Given the description of an element on the screen output the (x, y) to click on. 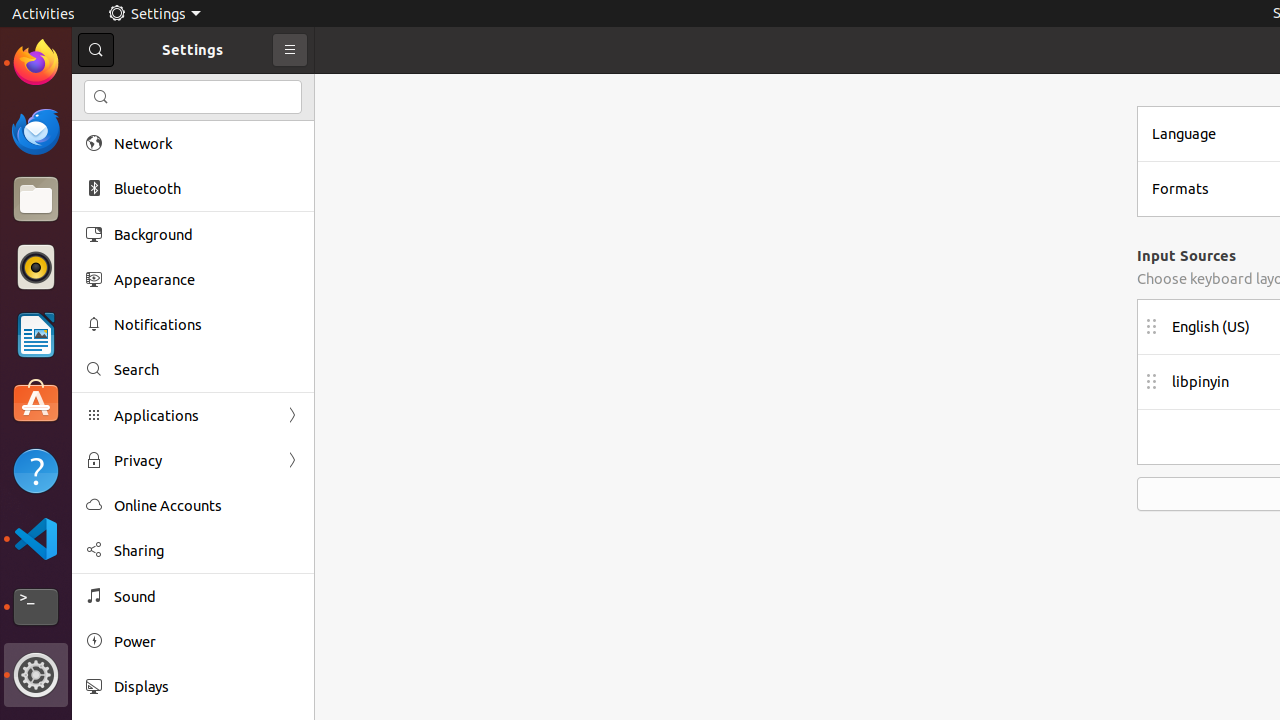
Search Element type: label (207, 369)
luyi1 Element type: label (133, 89)
Forward Element type: icon (292, 460)
IsaHelpMain.desktop Element type: label (133, 300)
Applications Element type: label (193, 415)
